Given the description of an element on the screen output the (x, y) to click on. 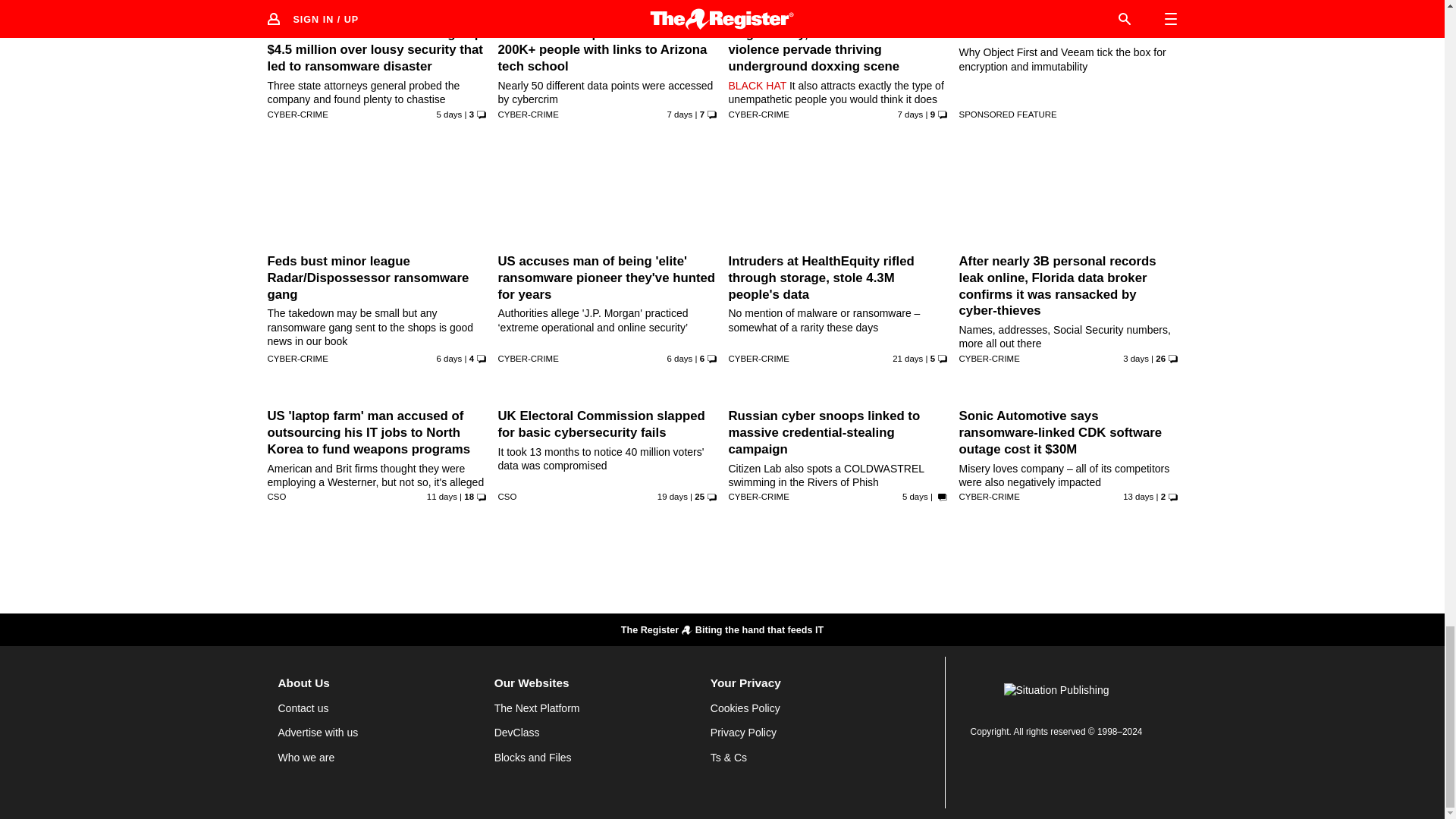
14 Aug 2024 17:2 (449, 113)
29 Jul 2024 13:45 (907, 358)
16 Aug 2024 20:45 (1135, 358)
12 Aug 2024 14:24 (910, 113)
13 Aug 2024 17:30 (679, 358)
13 Aug 2024 15:23 (449, 358)
8 Aug 2024 20:55 (441, 496)
31 Jul 2024 8:30 (672, 496)
12 Aug 2024 16:25 (679, 113)
